Given the description of an element on the screen output the (x, y) to click on. 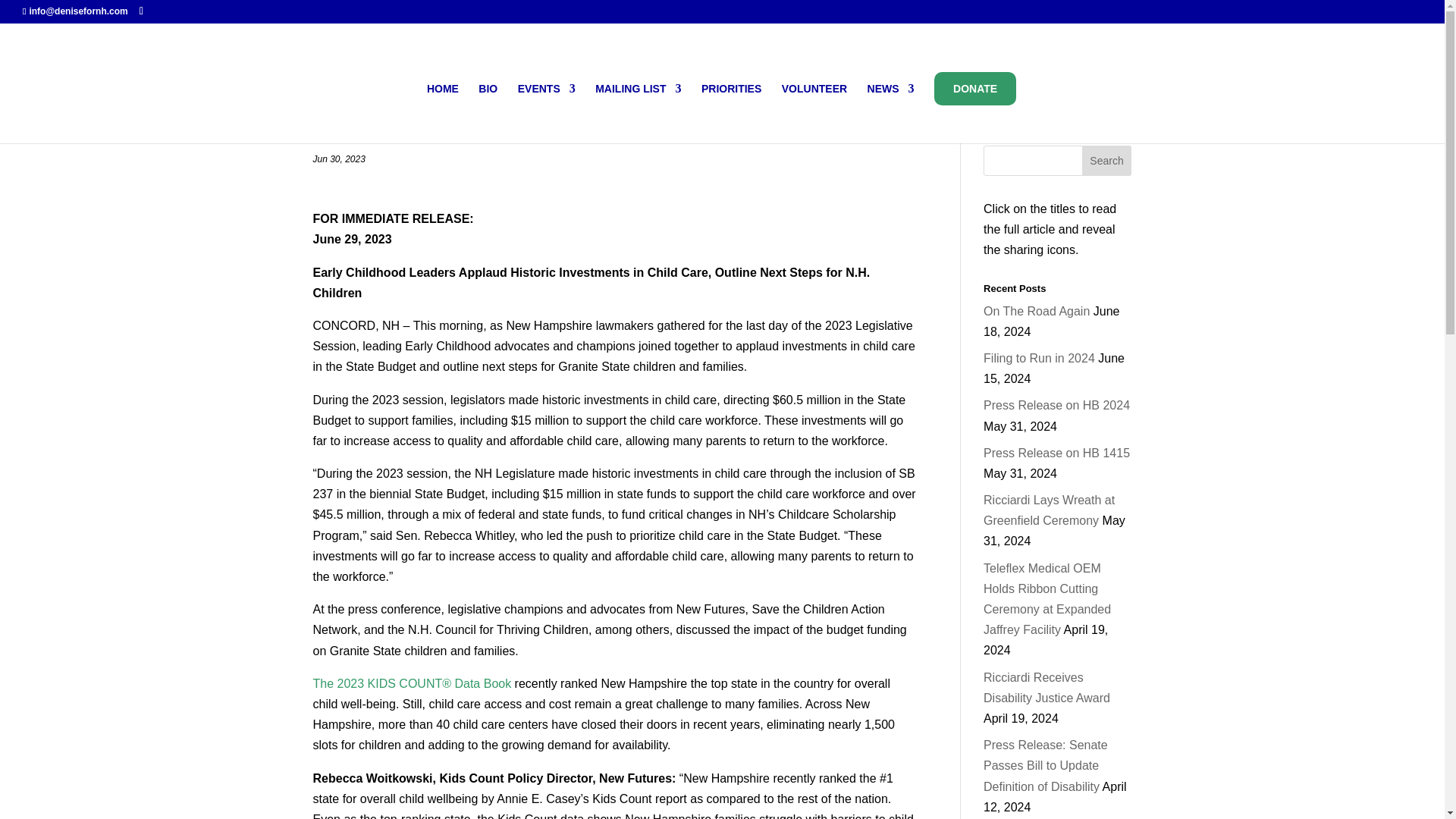
Press Release on HB 1415 (1056, 452)
Ricciardi Lays Wreath at Greenfield Ceremony (1049, 510)
MAILING LIST (638, 113)
PRIORITIES (731, 113)
EVENTS (546, 113)
DONATE (975, 88)
Filing to Run in 2024 (1039, 358)
Search (1106, 160)
Search (1106, 160)
VOLUNTEER (814, 113)
On The Road Again (1036, 310)
Ricciardi Receives Disability Justice Award (1046, 687)
Press Release on HB 2024 (1056, 404)
